Given the description of an element on the screen output the (x, y) to click on. 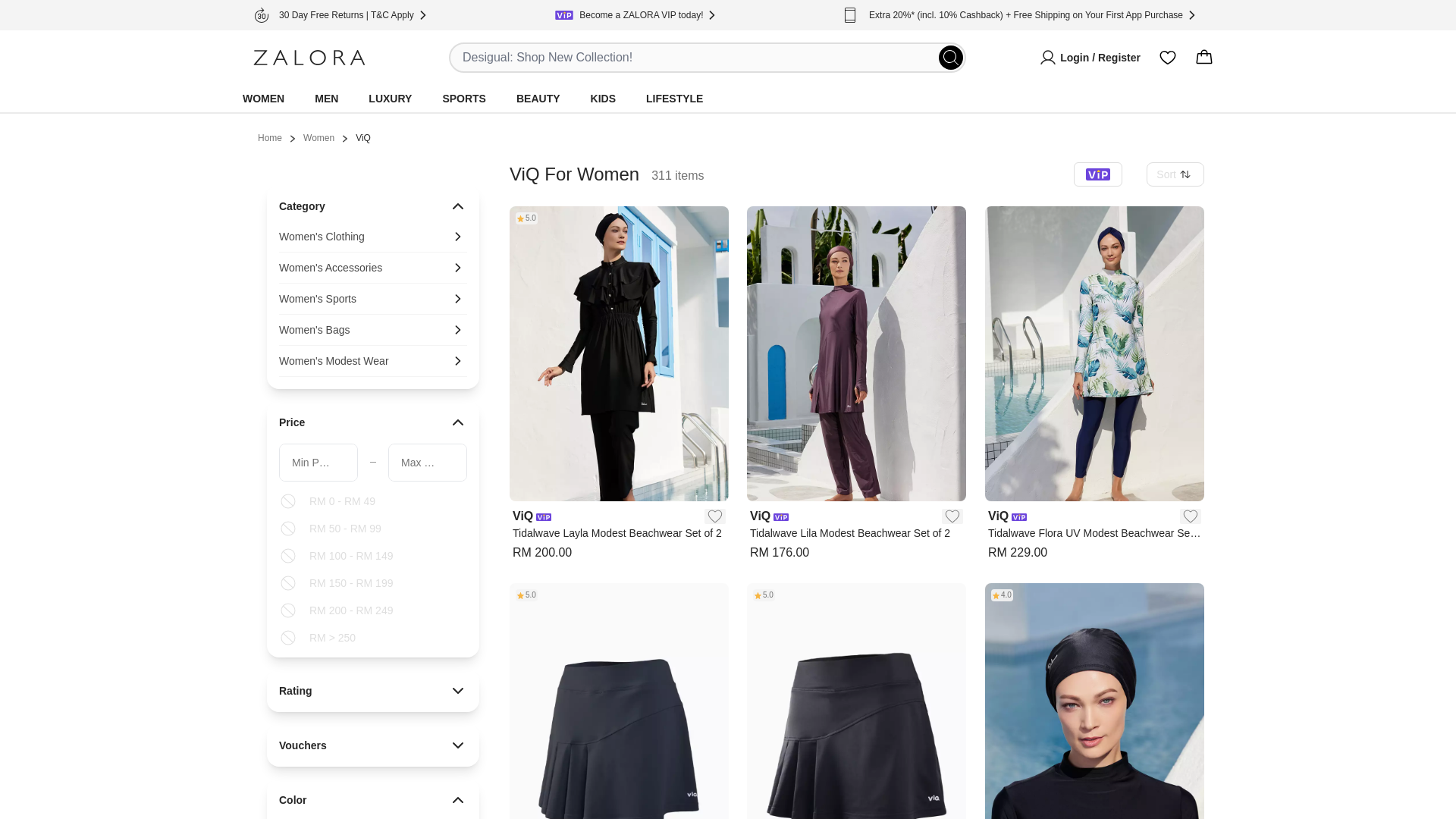
Women's Bags (373, 329)
ViQ (522, 515)
MEN (326, 98)
WOMEN (263, 98)
BEAUTY (537, 98)
Women's Accessories (373, 267)
LUXURY (389, 98)
Sort (1175, 174)
Color (373, 800)
Women's Clothing (373, 239)
